Given the description of an element on the screen output the (x, y) to click on. 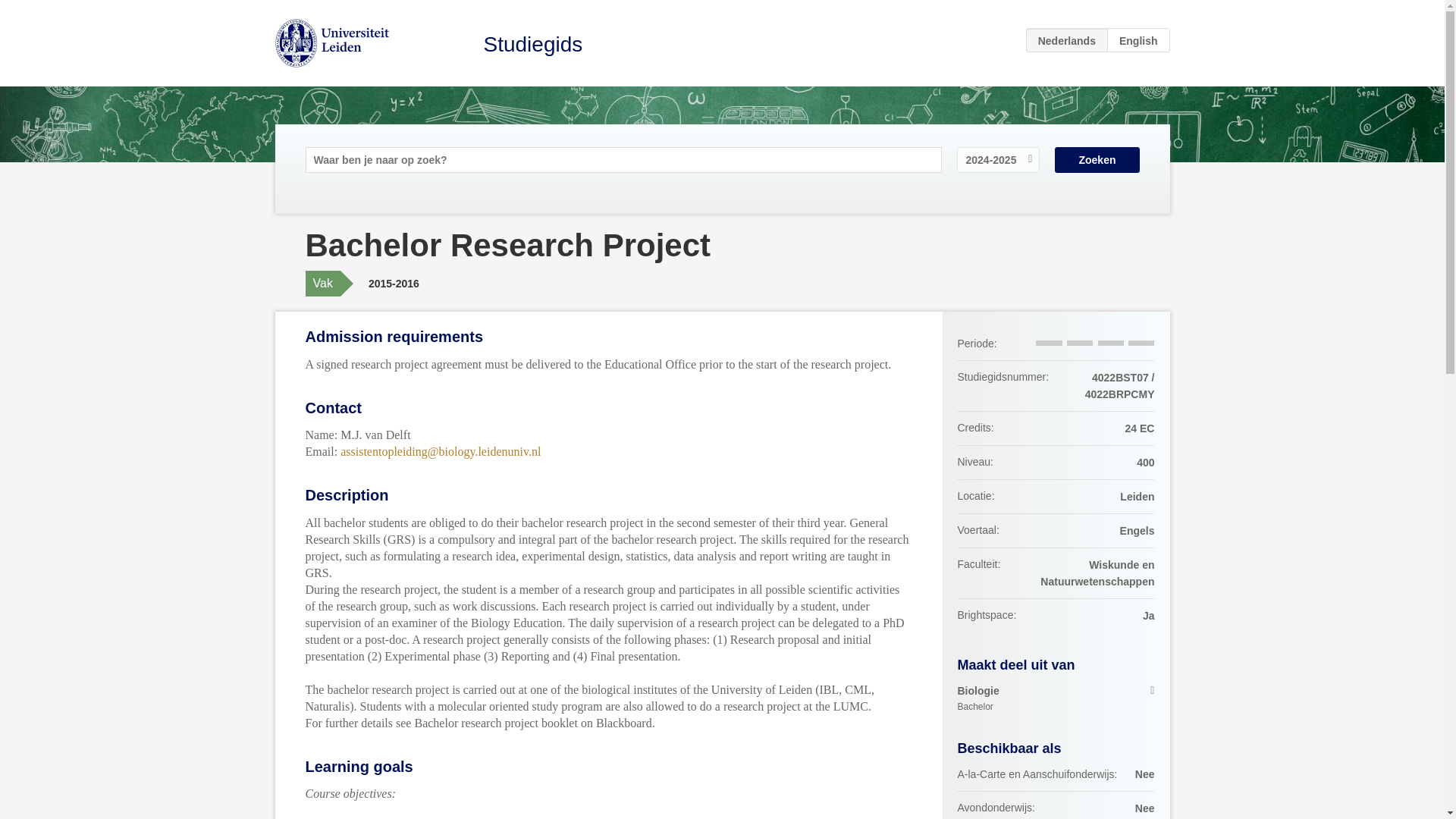
Studiegids (1055, 698)
Zoeken (533, 44)
EN (1096, 159)
